Given the description of an element on the screen output the (x, y) to click on. 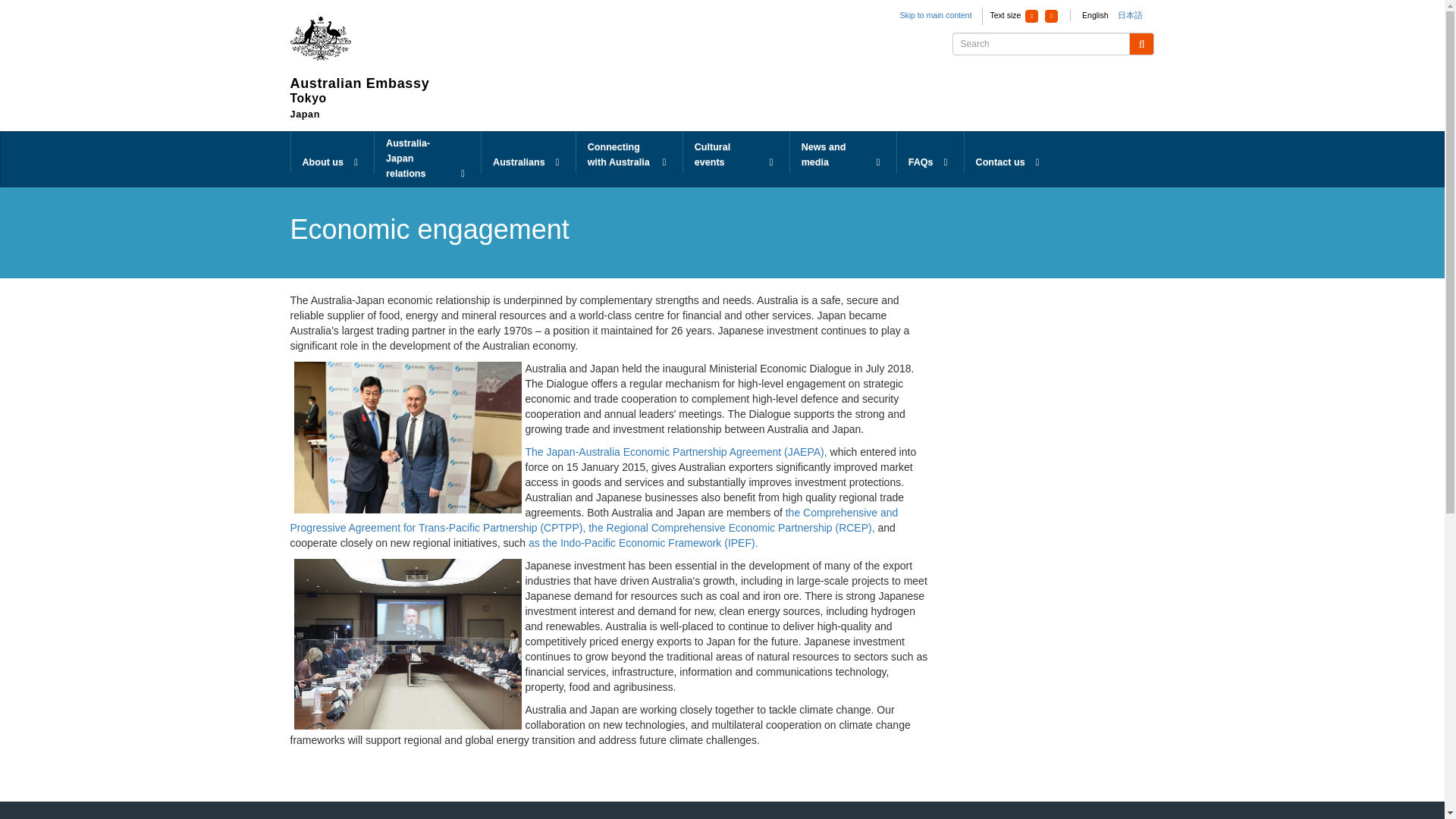
Skip to main content (935, 14)
News and media   (843, 153)
Australians   (528, 153)
Connecting with Australia   (629, 153)
Increase text size. (1051, 15)
About us   (332, 153)
Australia-Japan relations   (427, 158)
Cultural events   (735, 153)
Reduce text size. (1031, 15)
